Given the description of an element on the screen output the (x, y) to click on. 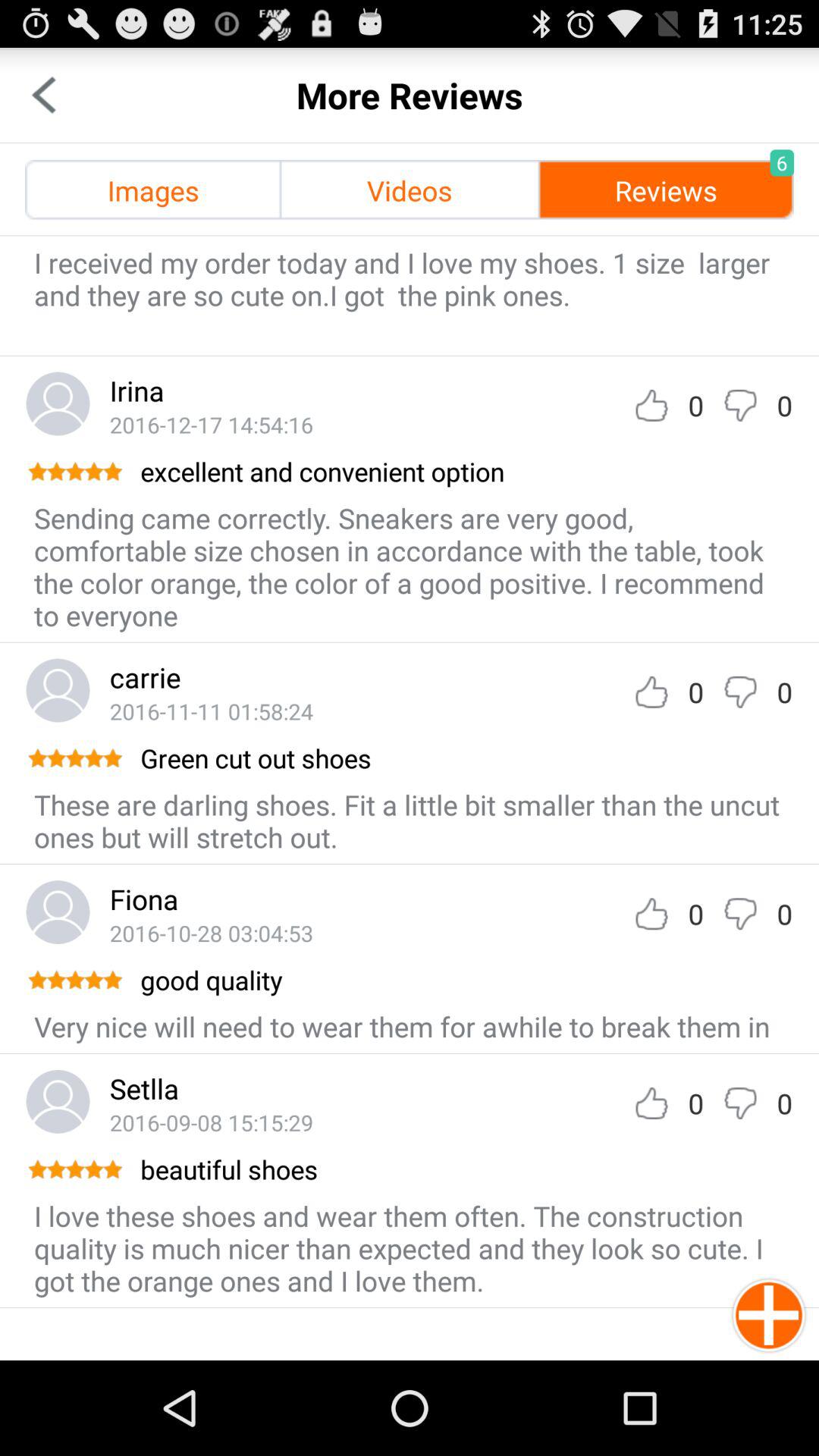
turn off the icon below the excellent and convenient item (409, 566)
